Given the description of an element on the screen output the (x, y) to click on. 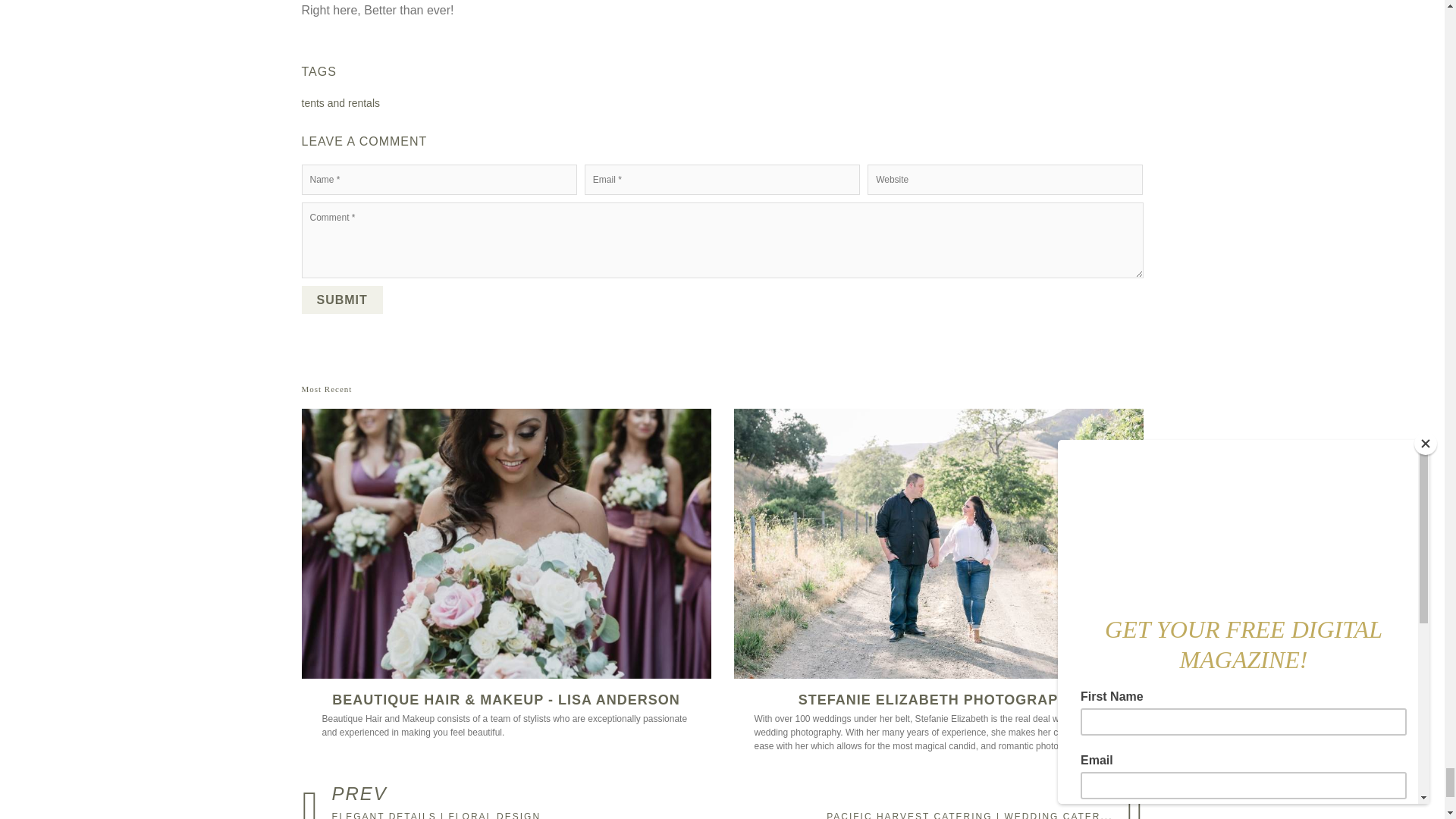
SUBMIT (341, 299)
tents and rentals (340, 102)
